Given the description of an element on the screen output the (x, y) to click on. 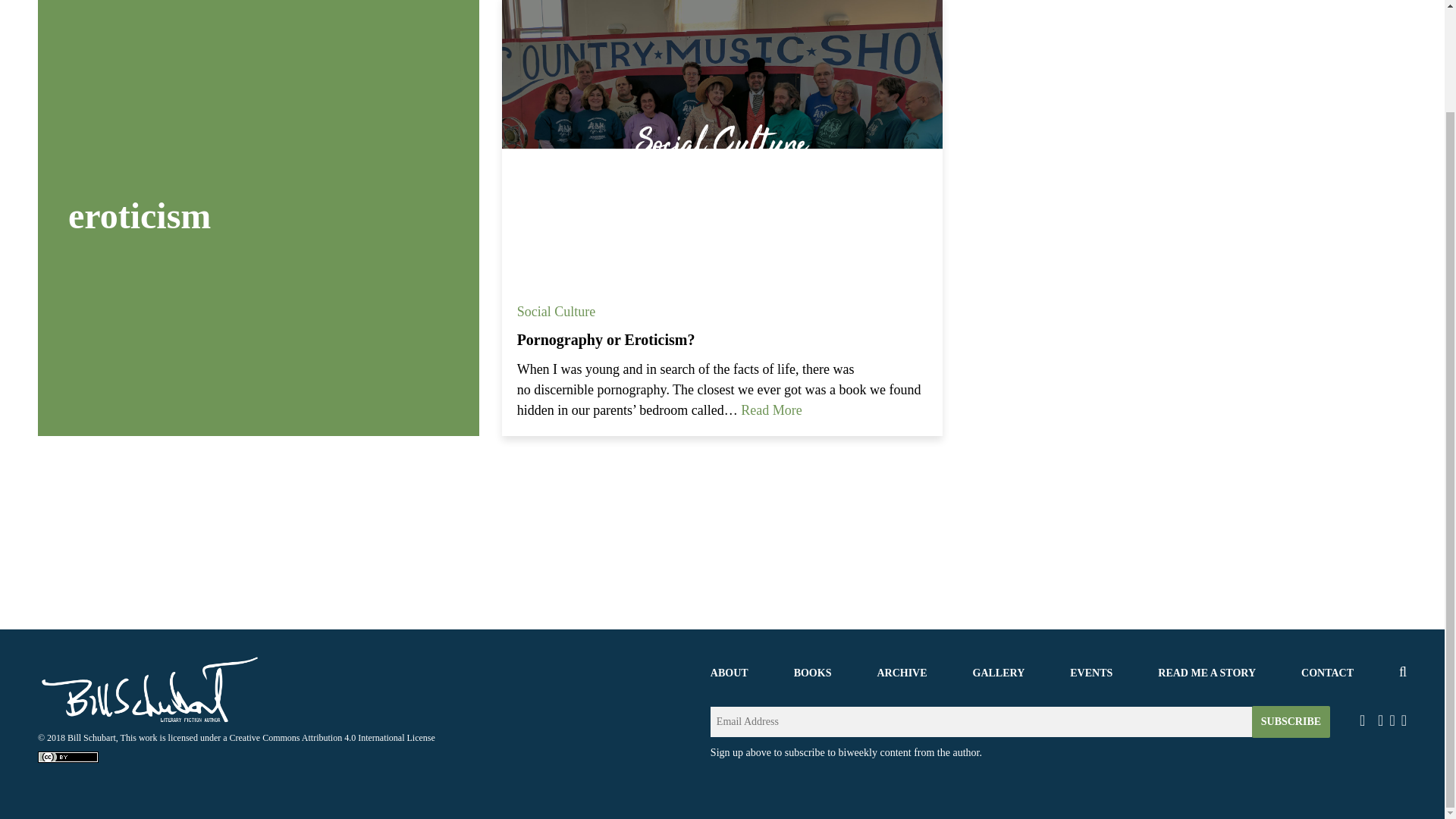
BOOKS (812, 672)
Pornography or Eroticism? (605, 339)
ABOUT (729, 672)
SUBSCRIBE (1291, 721)
READ ME A STORY (1206, 672)
Creative Commons Attribution 4.0 International License (332, 737)
ARCHIVE (901, 672)
GALLERY (998, 672)
CONTACT (1327, 672)
Social Culture (555, 311)
